Given the description of an element on the screen output the (x, y) to click on. 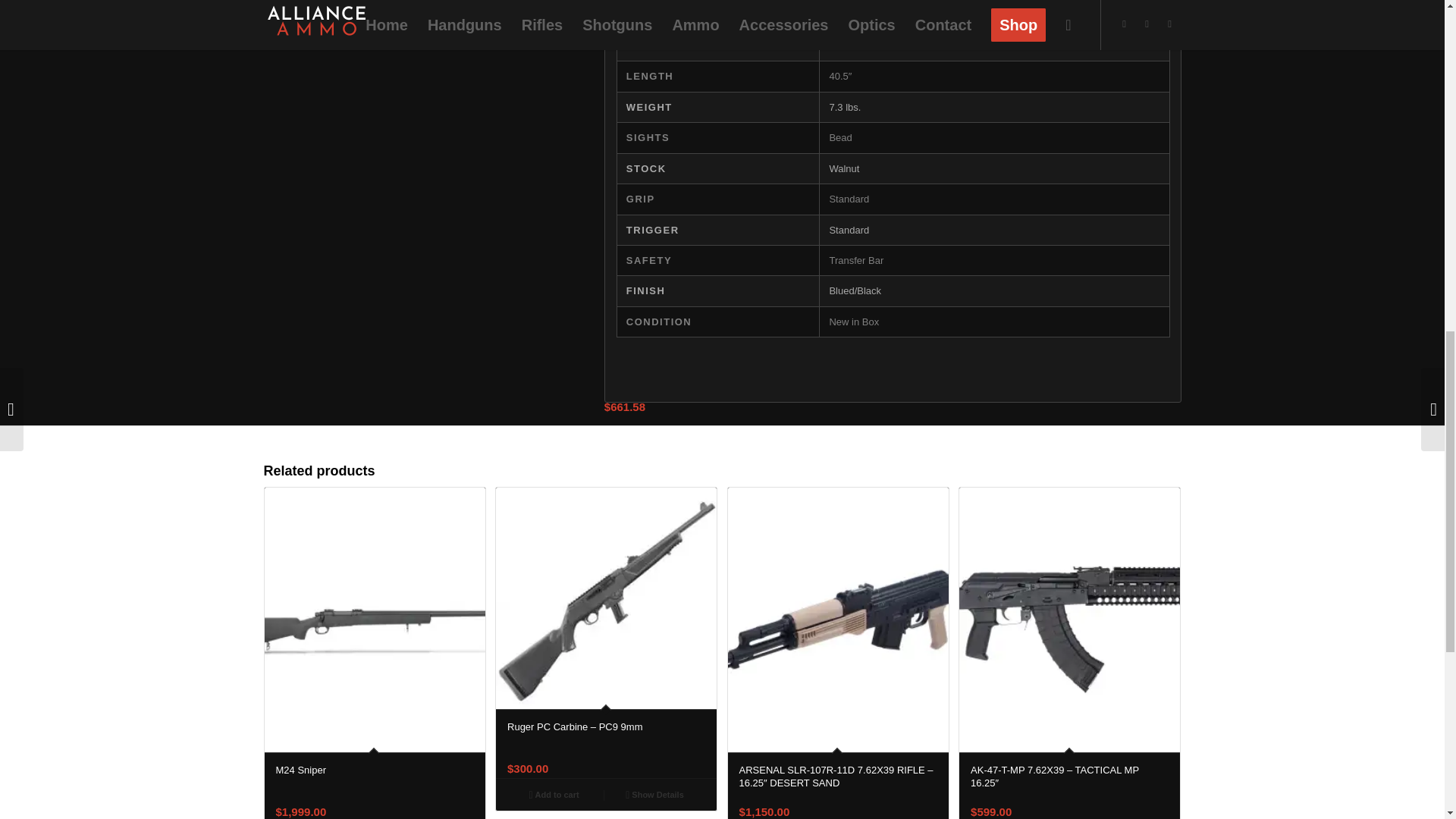
Add to cart (553, 793)
Show Details (654, 793)
